Given the description of an element on the screen output the (x, y) to click on. 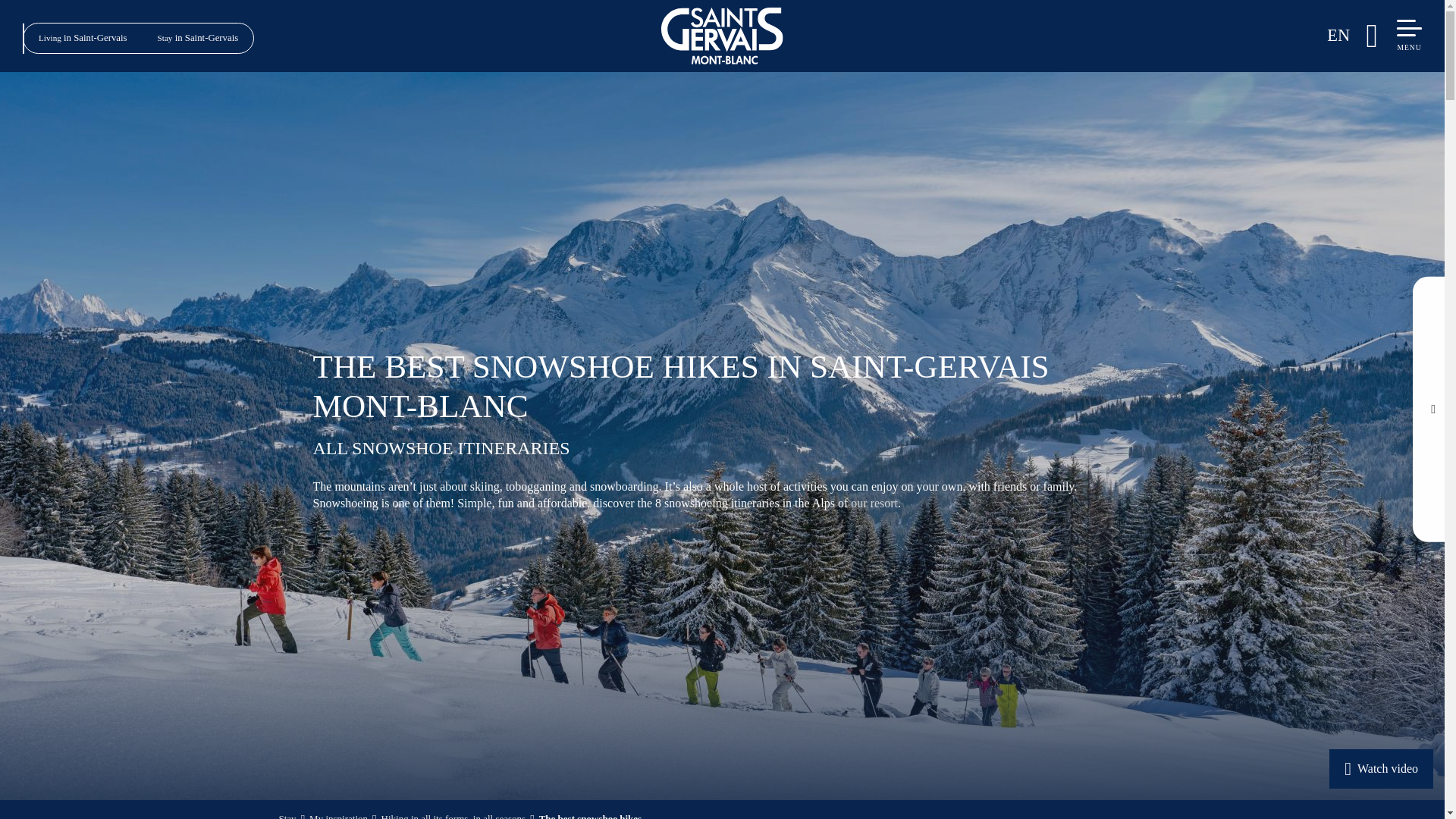
Go to main menu (1408, 46)
our resort (872, 502)
Stay (288, 816)
My inspiration (338, 816)
Hiking in all its forms, in all seasons (453, 816)
